Given the description of an element on the screen output the (x, y) to click on. 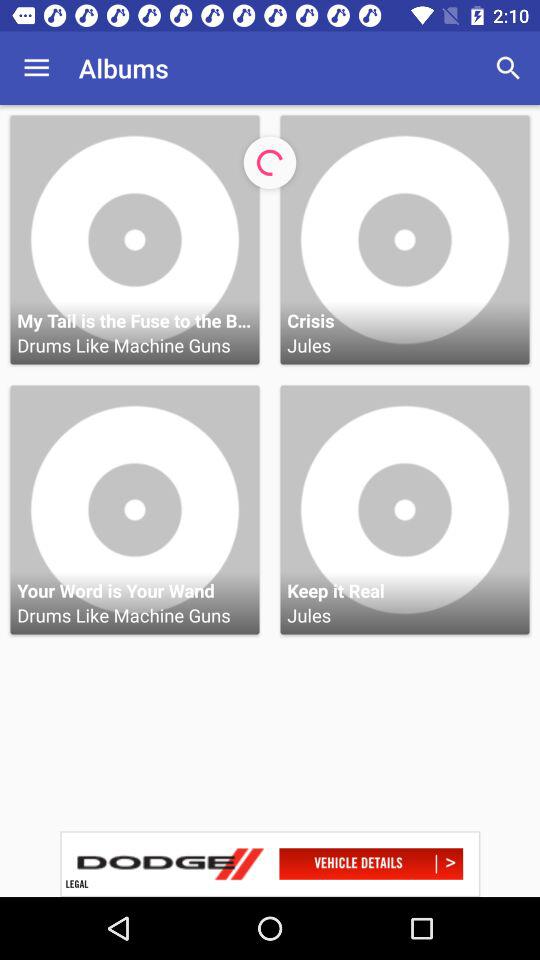
opens the advertisement (270, 864)
